Given the description of an element on the screen output the (x, y) to click on. 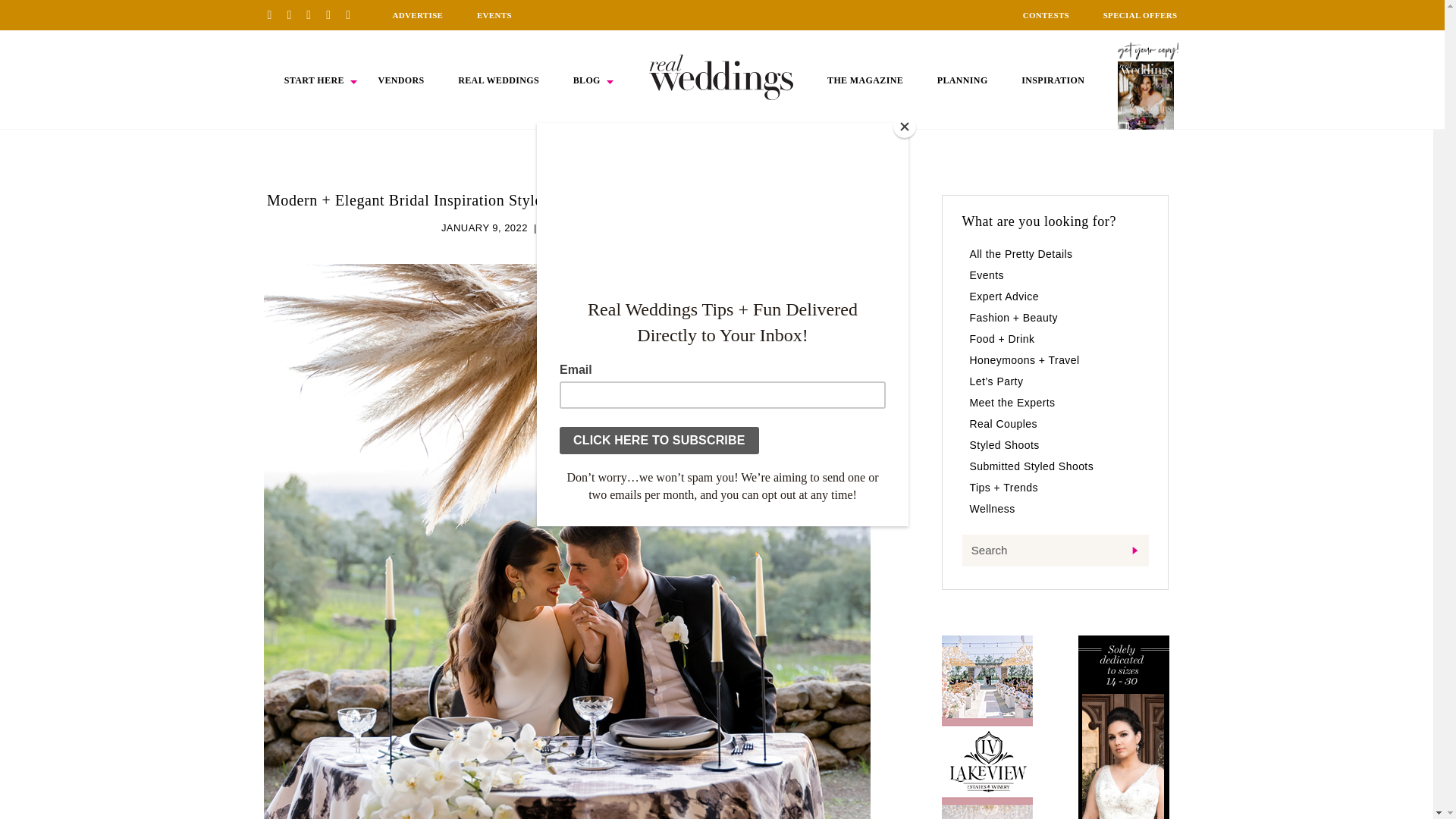
Facebook (294, 14)
YouTube (353, 14)
BLOG (586, 80)
ADVERTISE (416, 14)
HOME (721, 76)
Pinterest (274, 14)
VENDORS (400, 80)
SUBMITTED STYLED SHOOTS (618, 227)
PLANNING (962, 80)
Search (1054, 550)
Search (1054, 550)
EVENTS (494, 14)
START HERE (313, 80)
SPECIAL OFFERS (1140, 14)
THE MAGAZINE (864, 80)
